Given the description of an element on the screen output the (x, y) to click on. 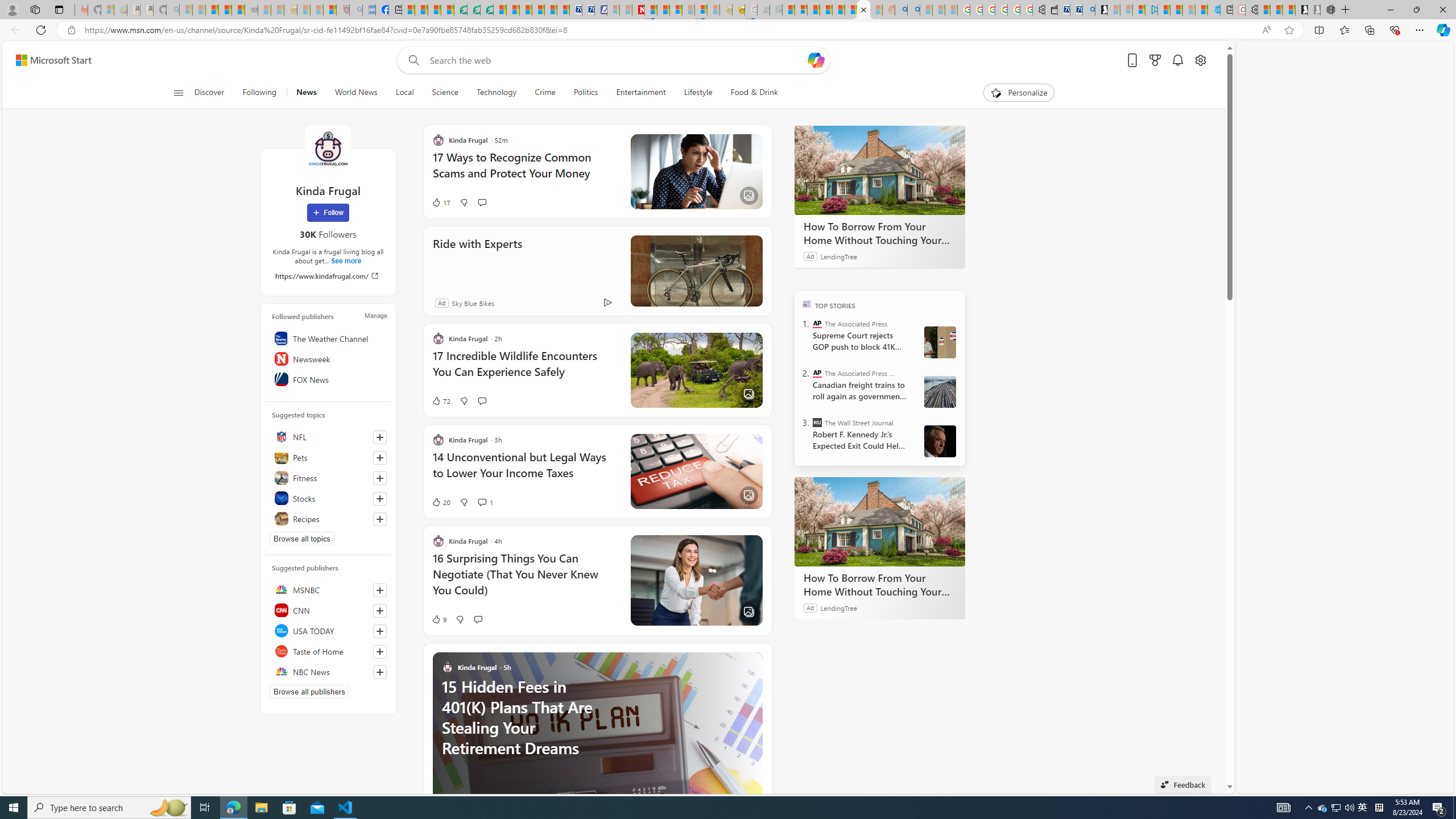
Local (403, 92)
Science (444, 92)
NFL (327, 436)
Ride with Experts (696, 270)
list of asthma inhalers uk - Search - Sleeping (355, 9)
CNN (327, 609)
App bar (728, 29)
LendingTree (838, 607)
Student Loan Update: Forgiveness Program Ends This Month (826, 9)
